Given the description of an element on the screen output the (x, y) to click on. 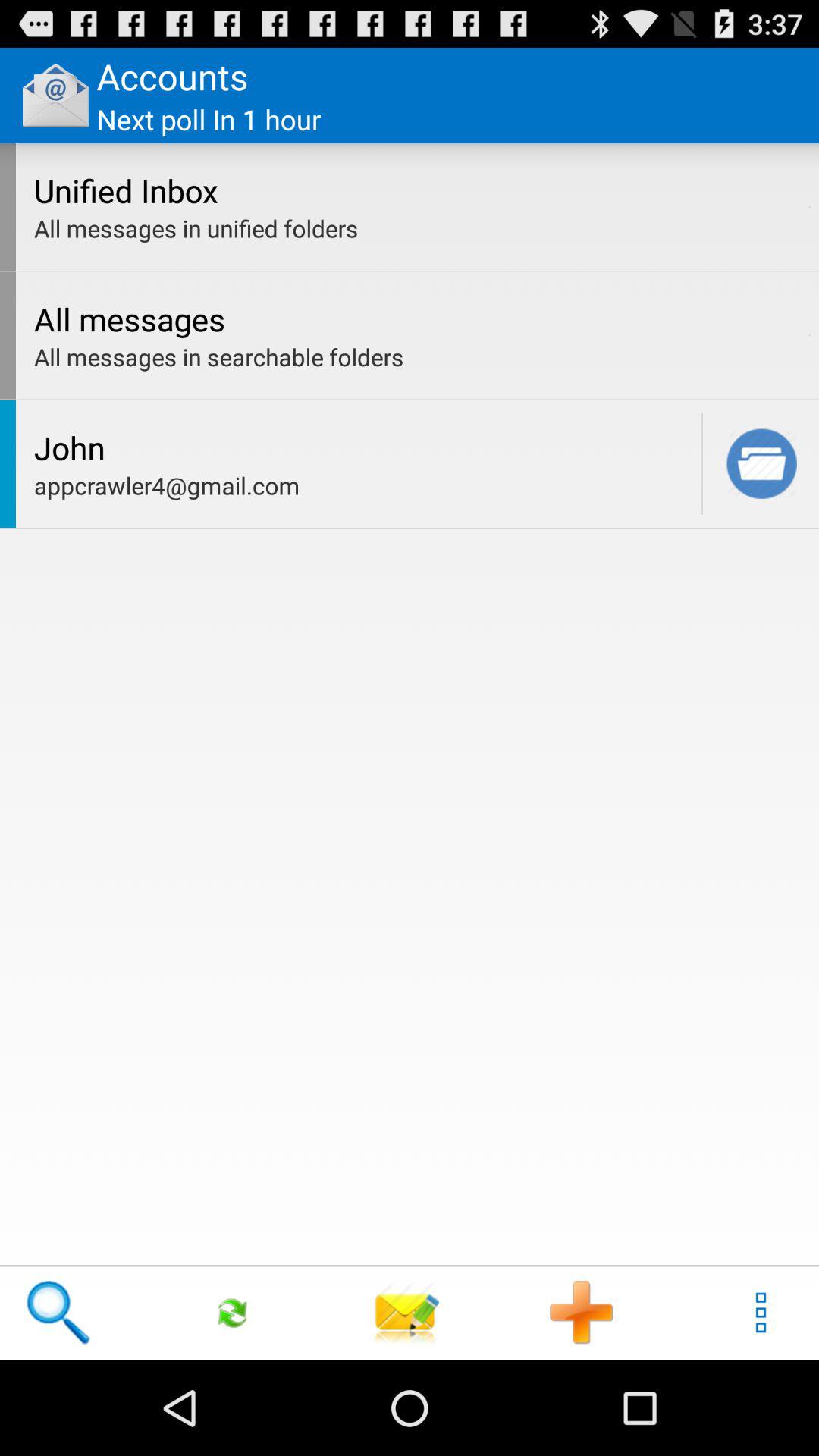
turn off app below the next poll in (417, 190)
